Given the description of an element on the screen output the (x, y) to click on. 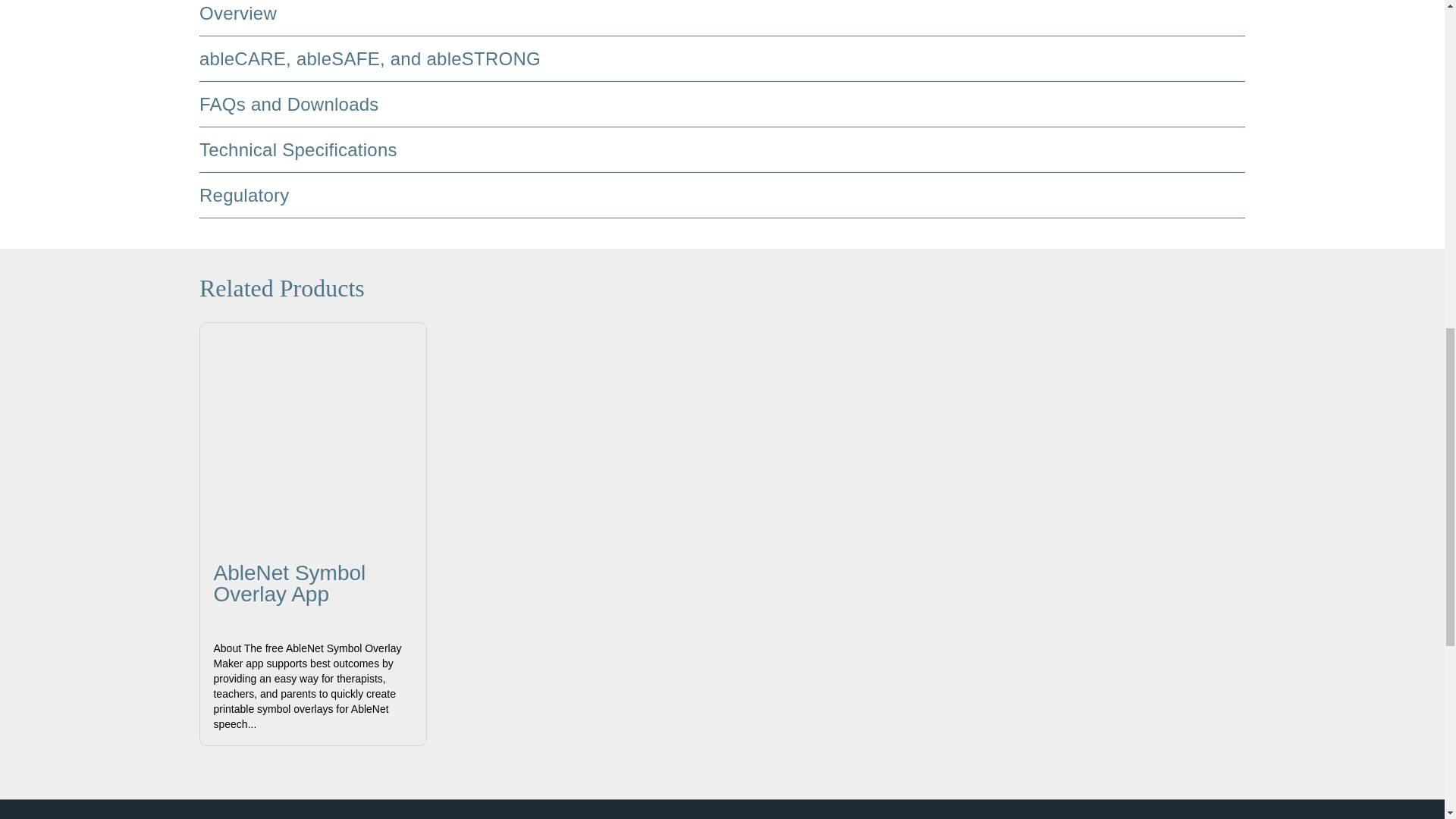
Symbol Overlay Maker home screen (313, 435)
